Given the description of an element on the screen output the (x, y) to click on. 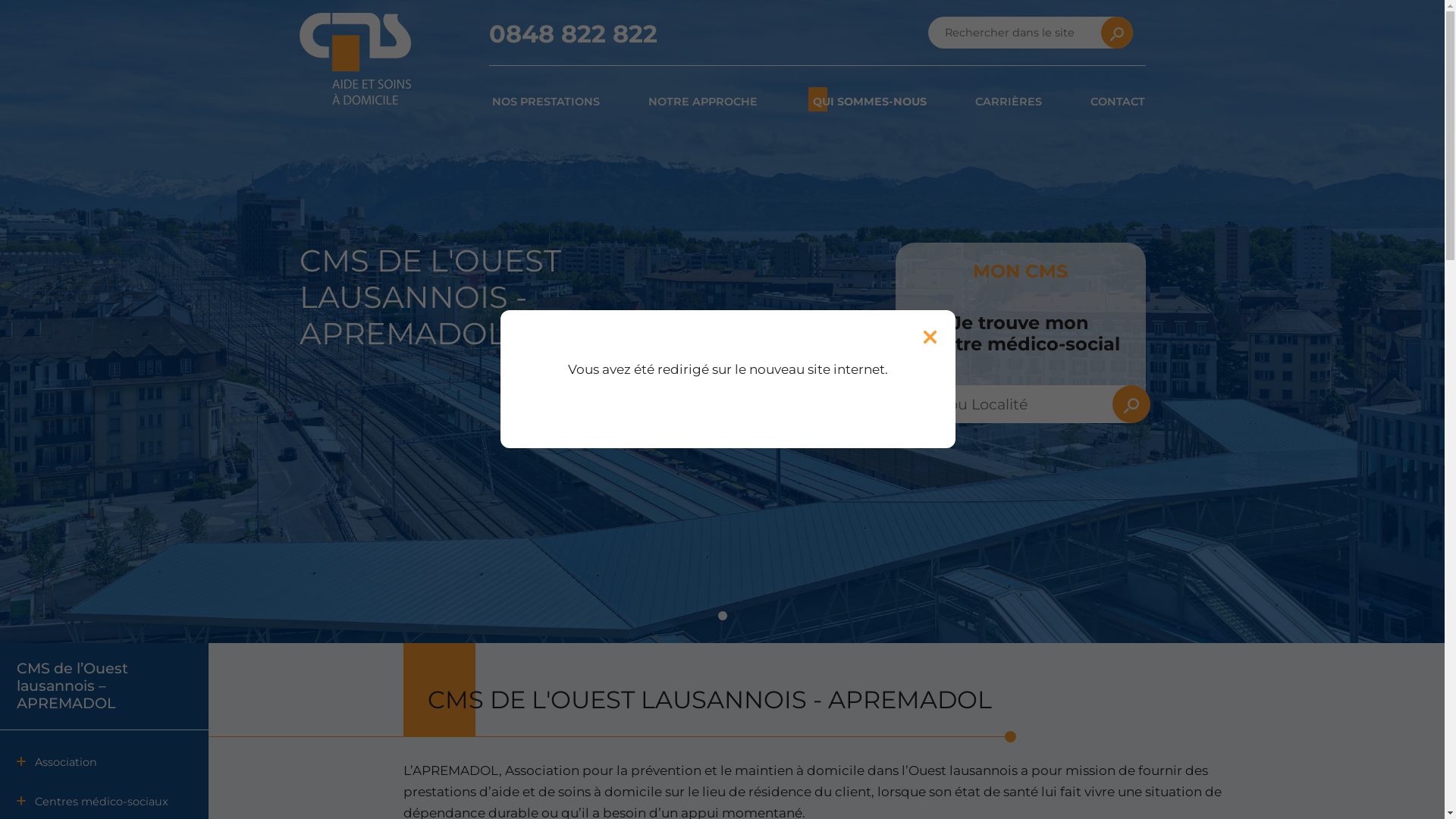
NOTRE APPROCHE Element type: text (702, 101)
QUI SOMMES-NOUS Element type: text (869, 101)
Association Element type: text (103, 761)
0848 822 822 Element type: text (572, 33)
CONTACT Element type: text (1117, 101)
NOS PRESTATIONS Element type: text (545, 101)
